Given the description of an element on the screen output the (x, y) to click on. 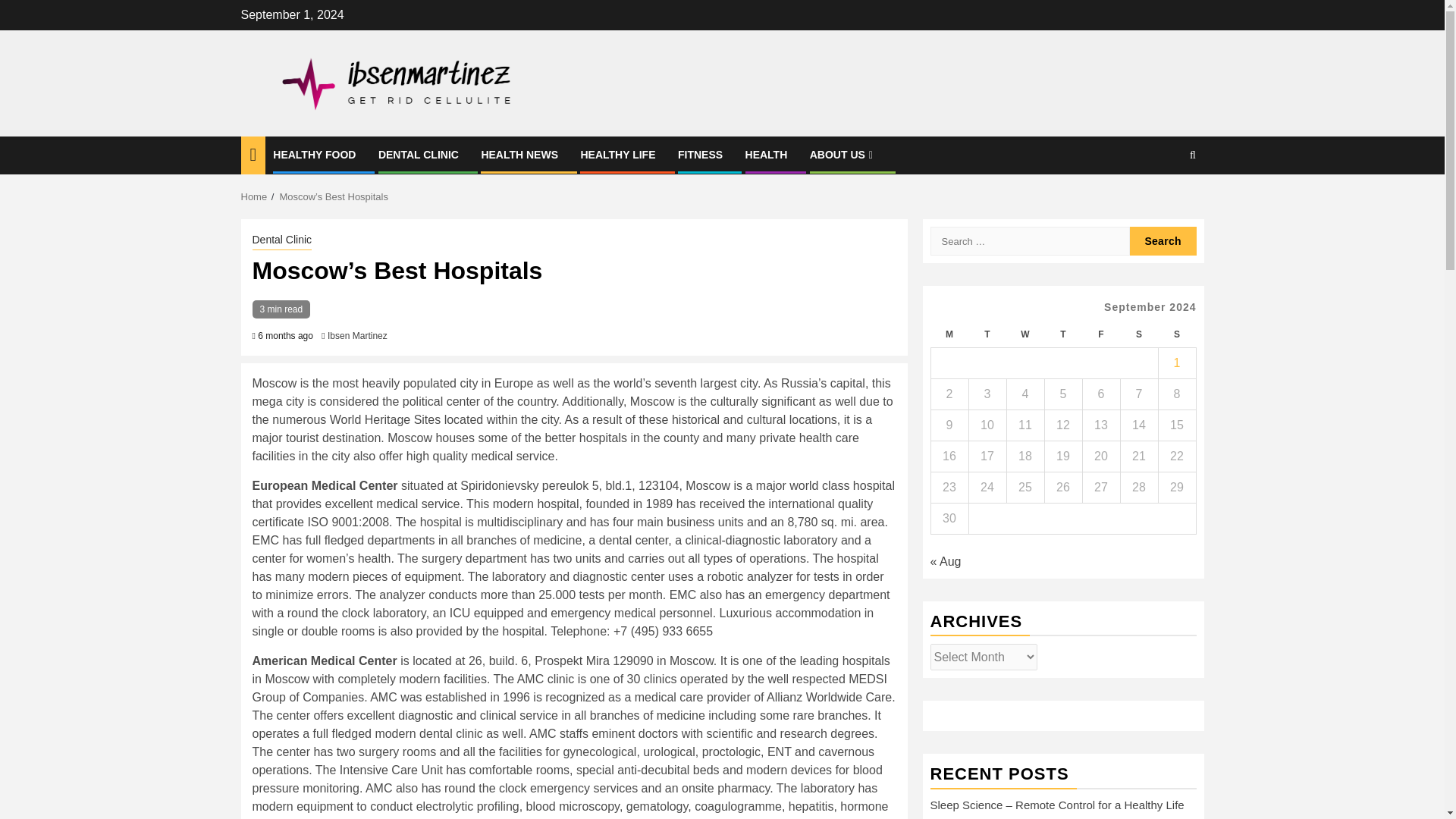
Thursday (1062, 334)
Search (1162, 240)
Search (1162, 240)
Search (1163, 201)
FITNESS (700, 154)
HEALTH NEWS (518, 154)
Ibsen Martinez (357, 335)
ABOUT US (842, 154)
HEALTHY FOOD (314, 154)
Wednesday (1024, 334)
